Given the description of an element on the screen output the (x, y) to click on. 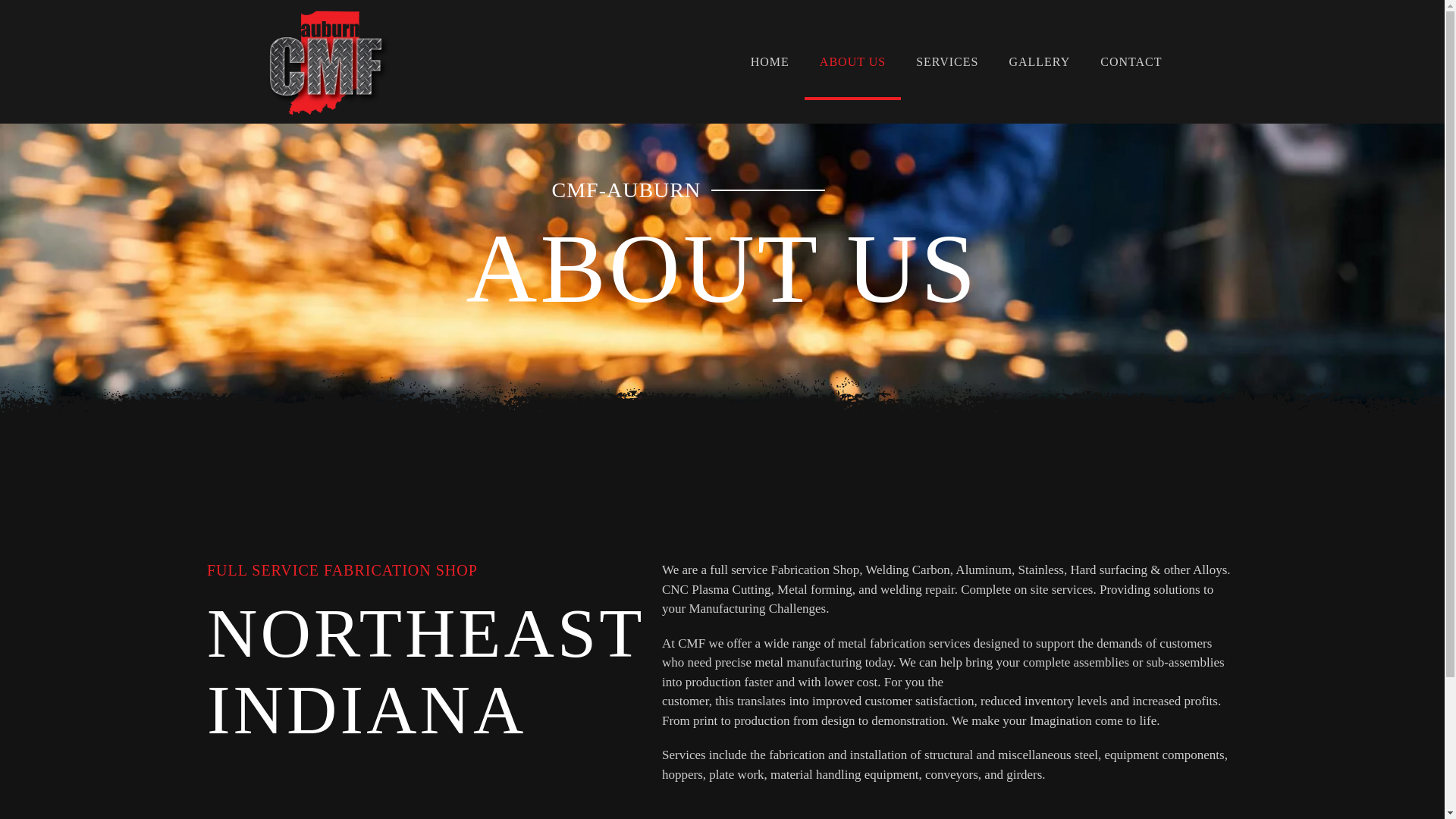
CONTACT (1130, 61)
HOME (770, 61)
ABOUT US (853, 61)
SERVICES (946, 61)
GALLERY (1038, 61)
